Given the description of an element on the screen output the (x, y) to click on. 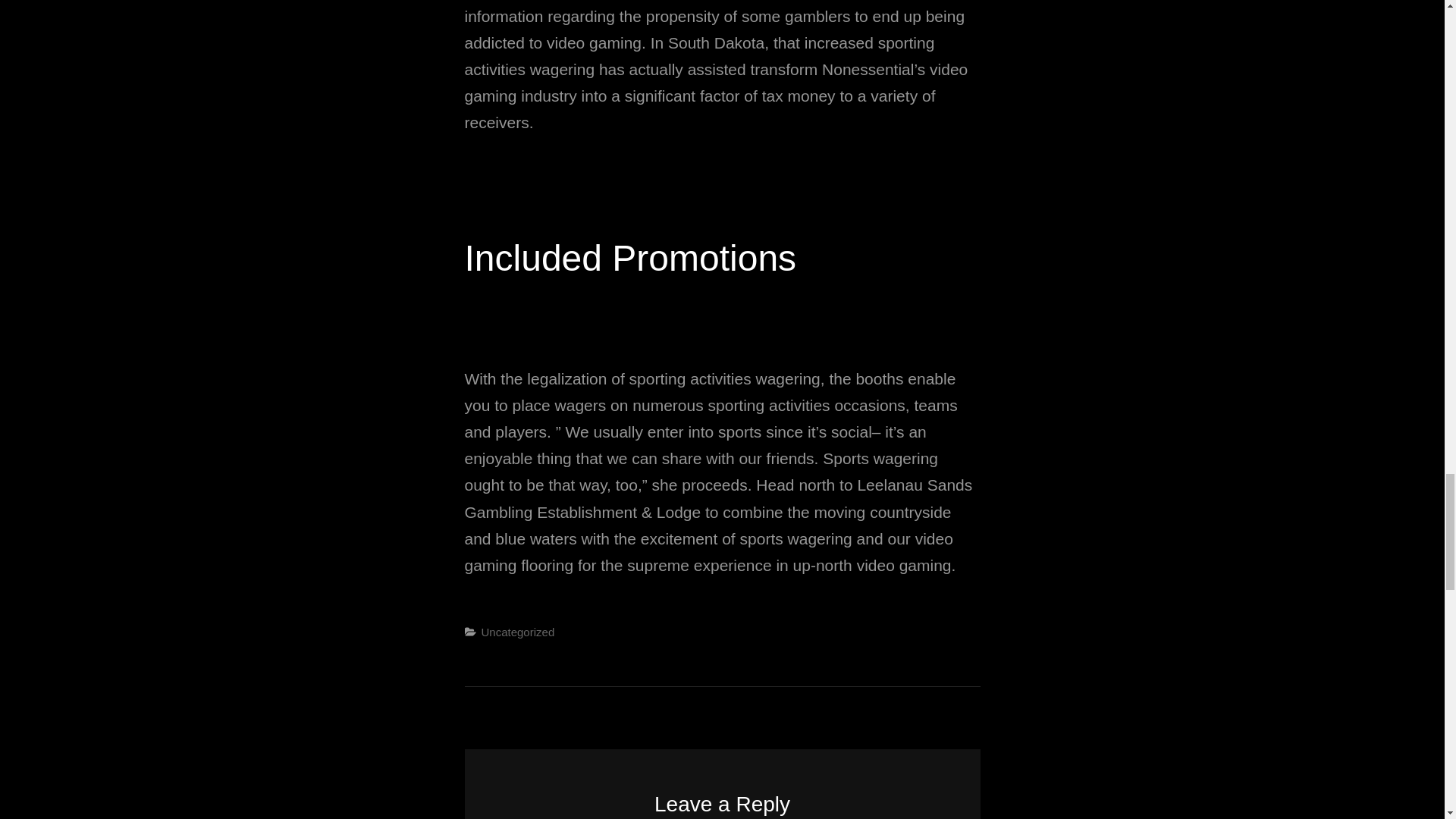
Uncategorized (517, 631)
